Given the description of an element on the screen output the (x, y) to click on. 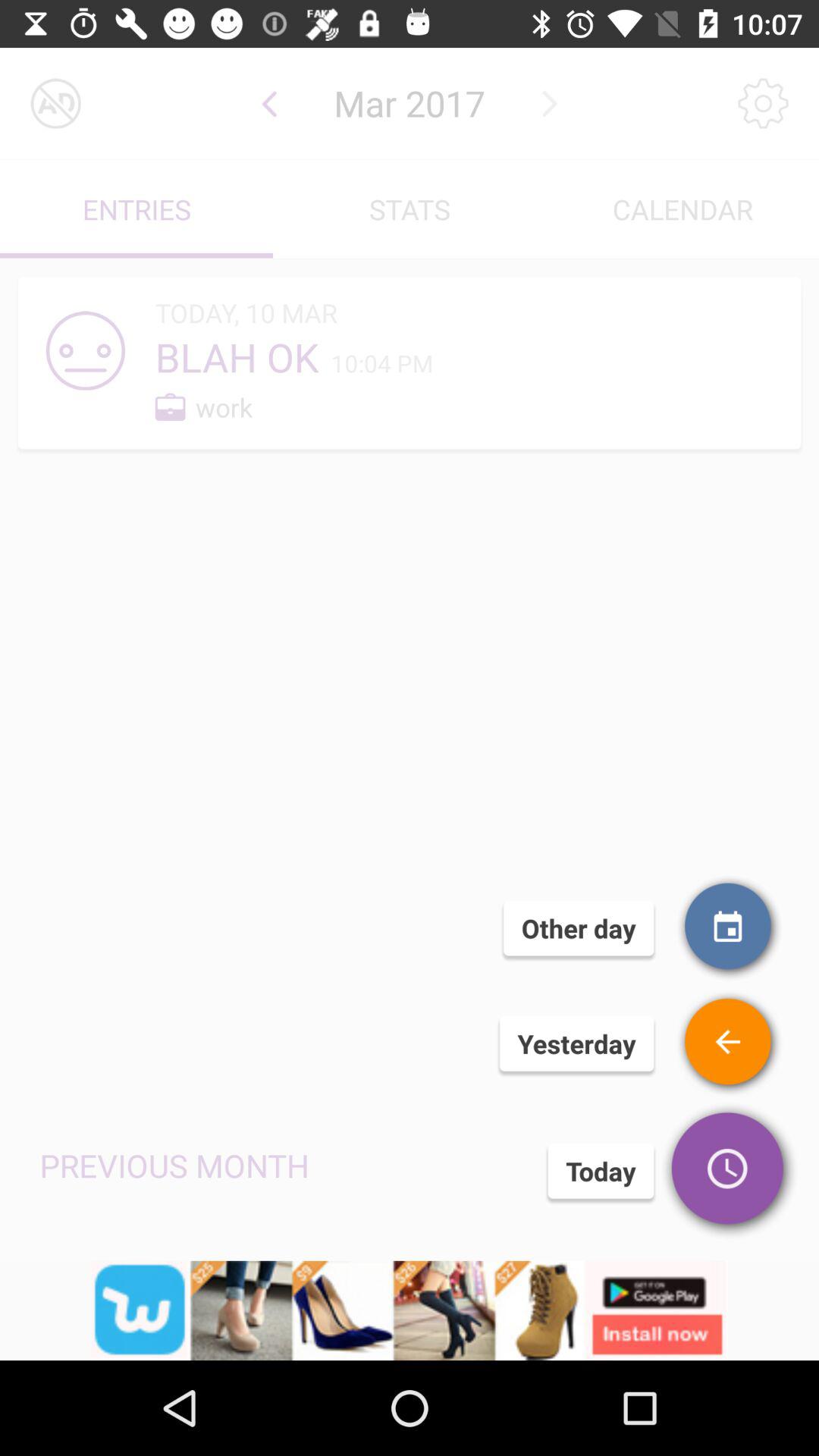
falsie (729, 1043)
